Given the description of an element on the screen output the (x, y) to click on. 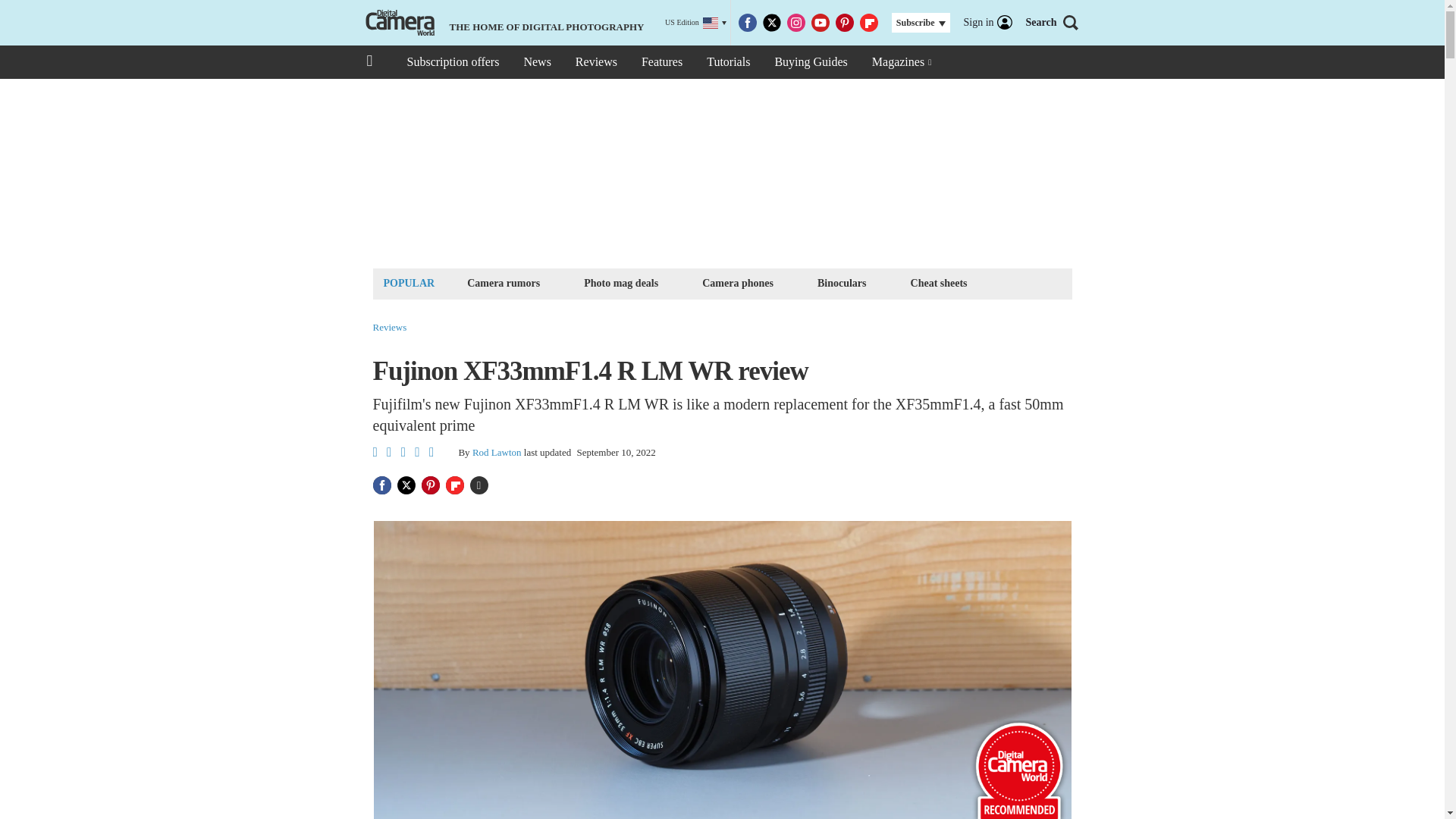
THE HOME OF DIGITAL PHOTOGRAPHY (503, 22)
Subscription offers (452, 61)
Reviews (595, 61)
Buying Guides (810, 61)
News (536, 61)
Reviews (389, 327)
Camera phones (737, 282)
Binoculars (842, 282)
Photo mag deals (620, 282)
Cheat sheets (938, 282)
